Given the description of an element on the screen output the (x, y) to click on. 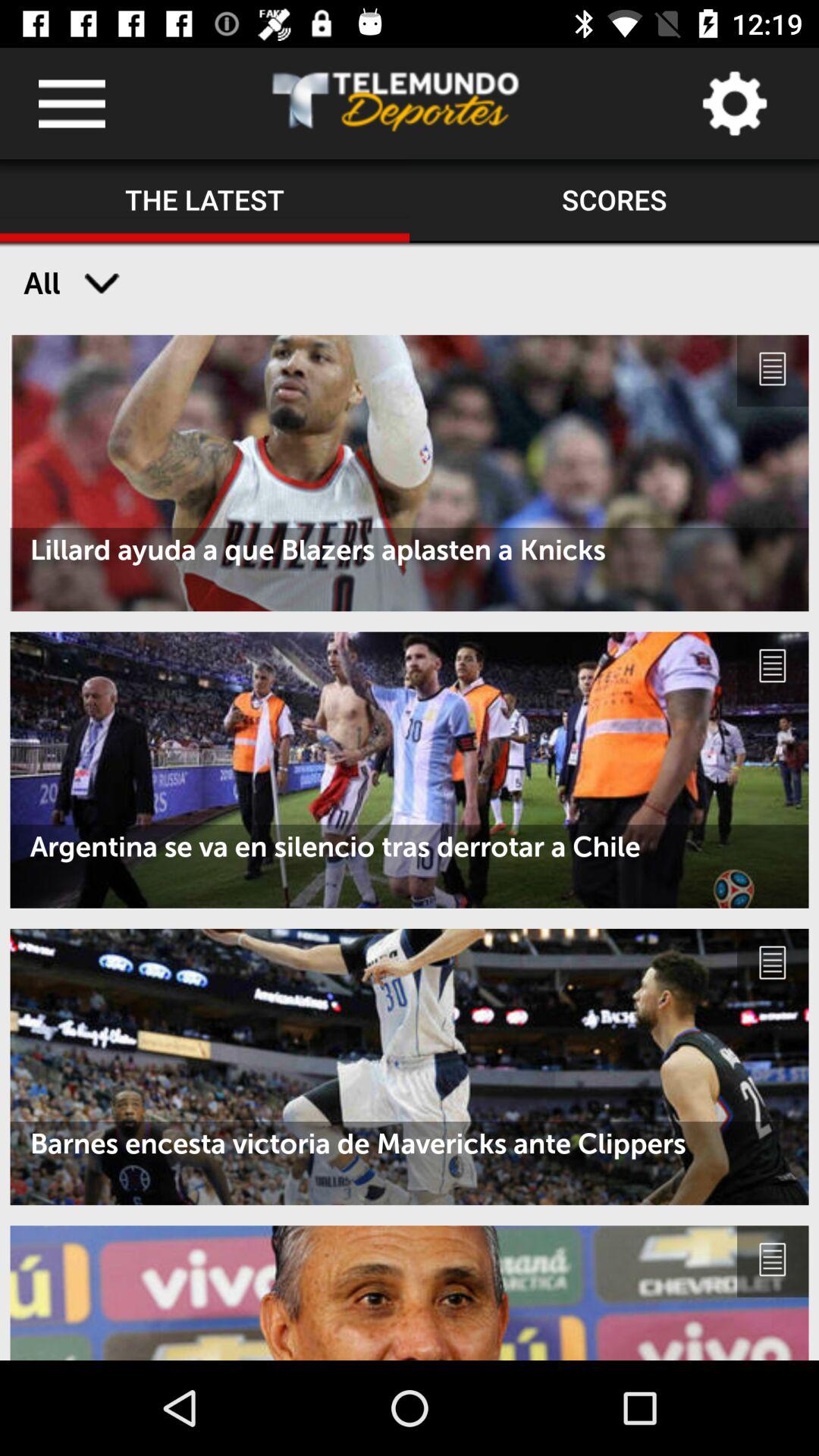
select icon next to the the latest (614, 200)
